Given the description of an element on the screen output the (x, y) to click on. 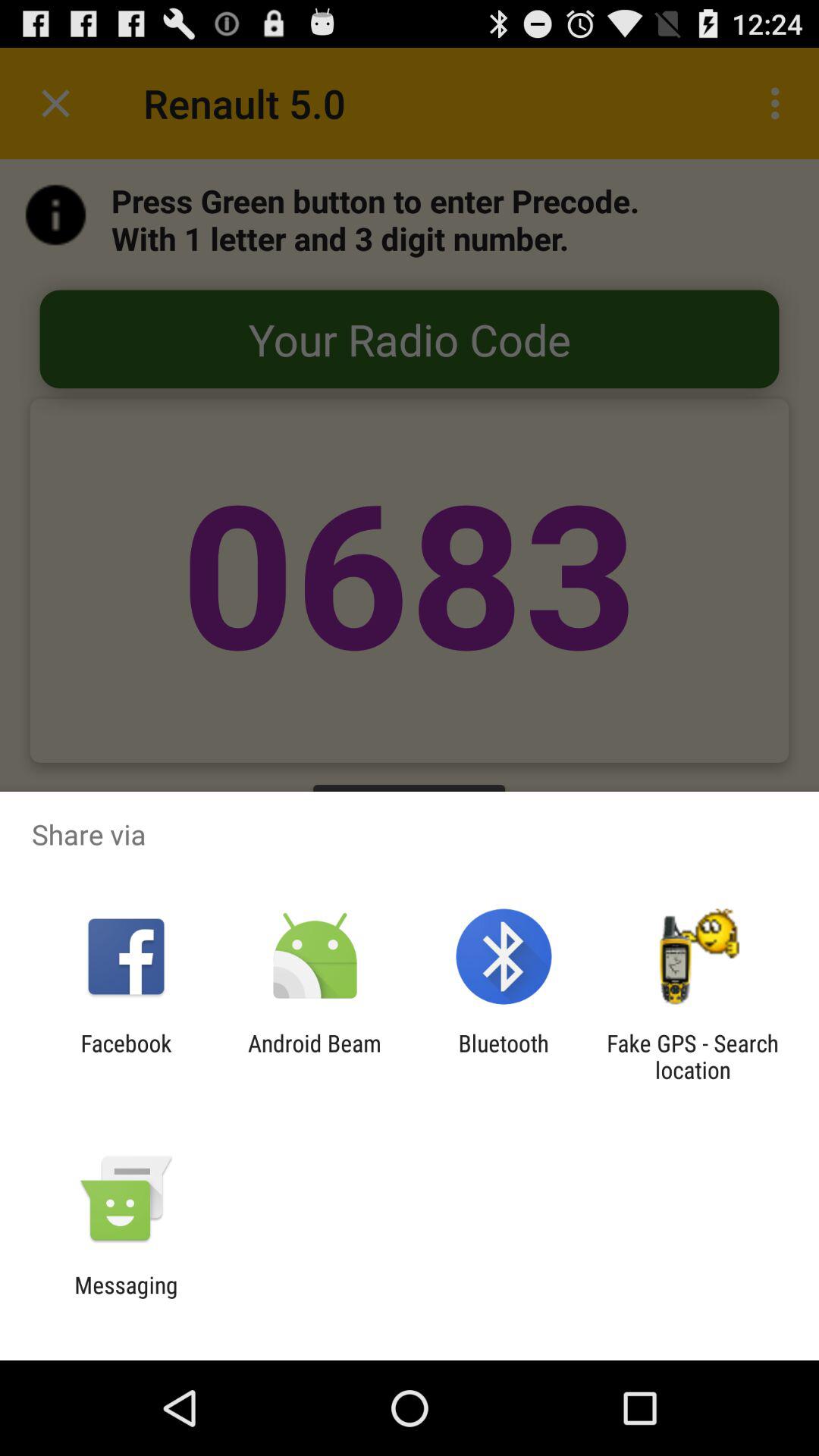
launch the item next to the android beam (503, 1056)
